Given the description of an element on the screen output the (x, y) to click on. 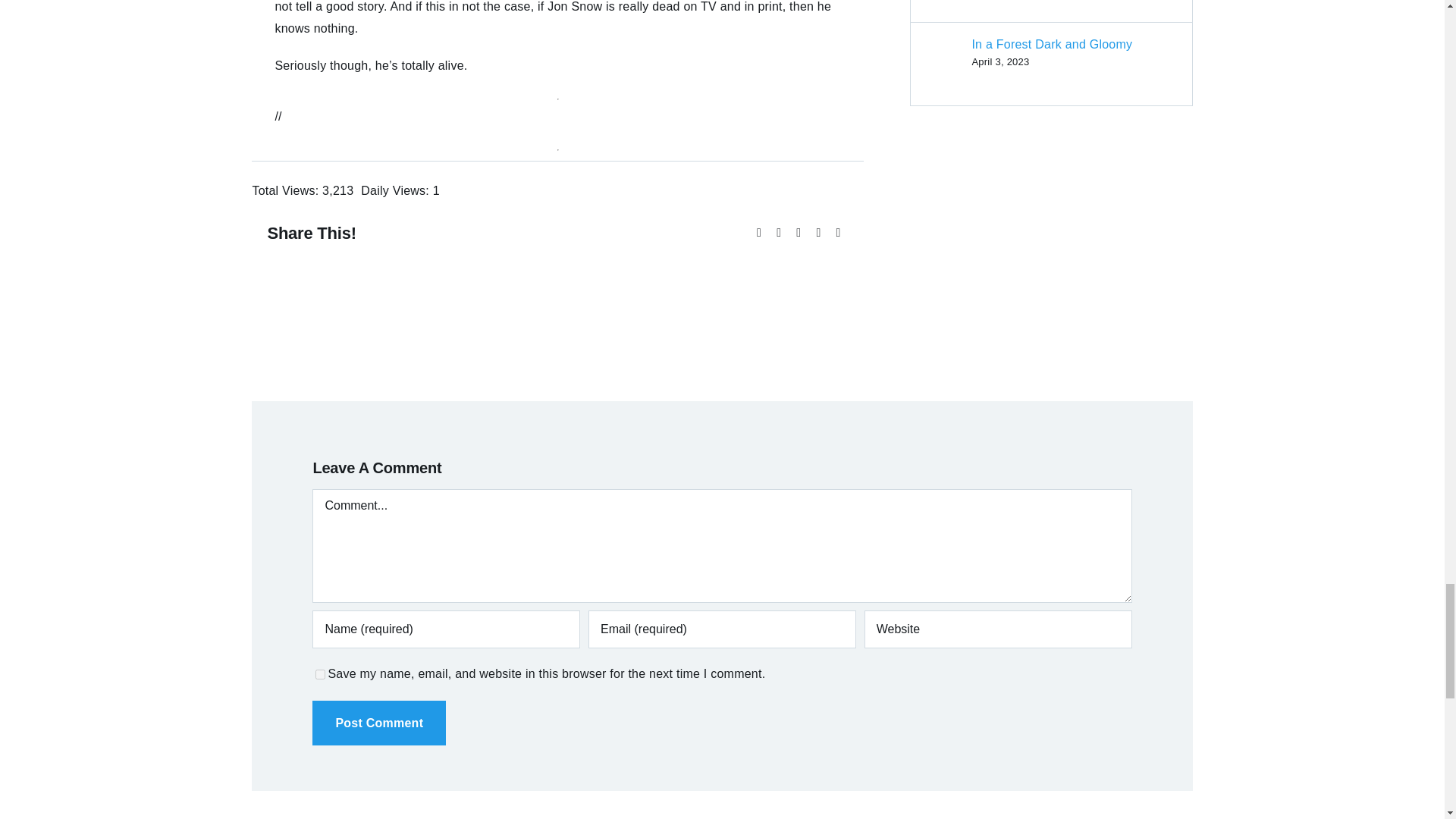
X (778, 232)
Facebook (758, 232)
yes (319, 674)
Post Comment (379, 723)
LinkedIn (818, 232)
Reddit (798, 232)
